Given the description of an element on the screen output the (x, y) to click on. 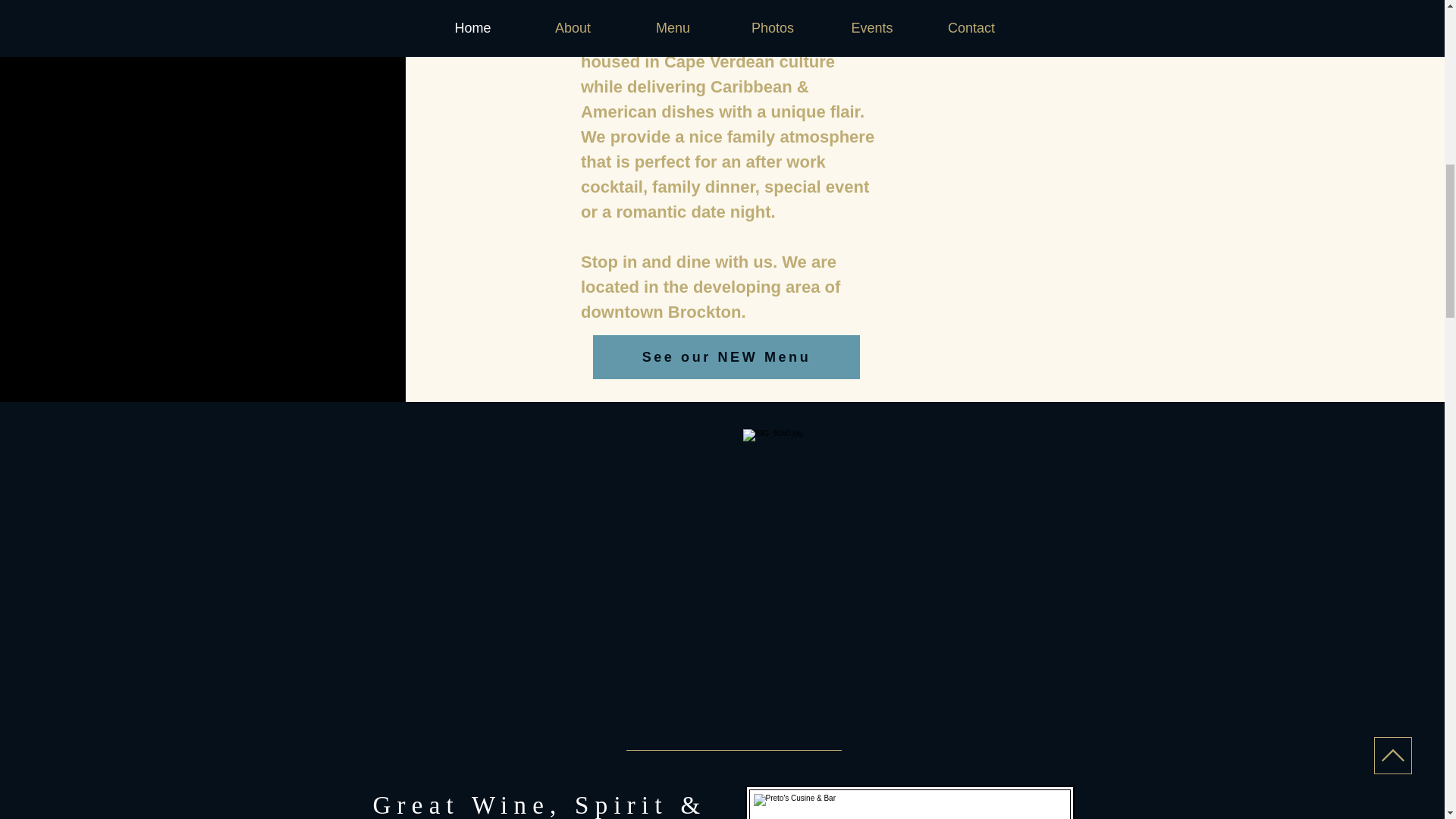
See our NEW Menu (726, 356)
